Given the description of an element on the screen output the (x, y) to click on. 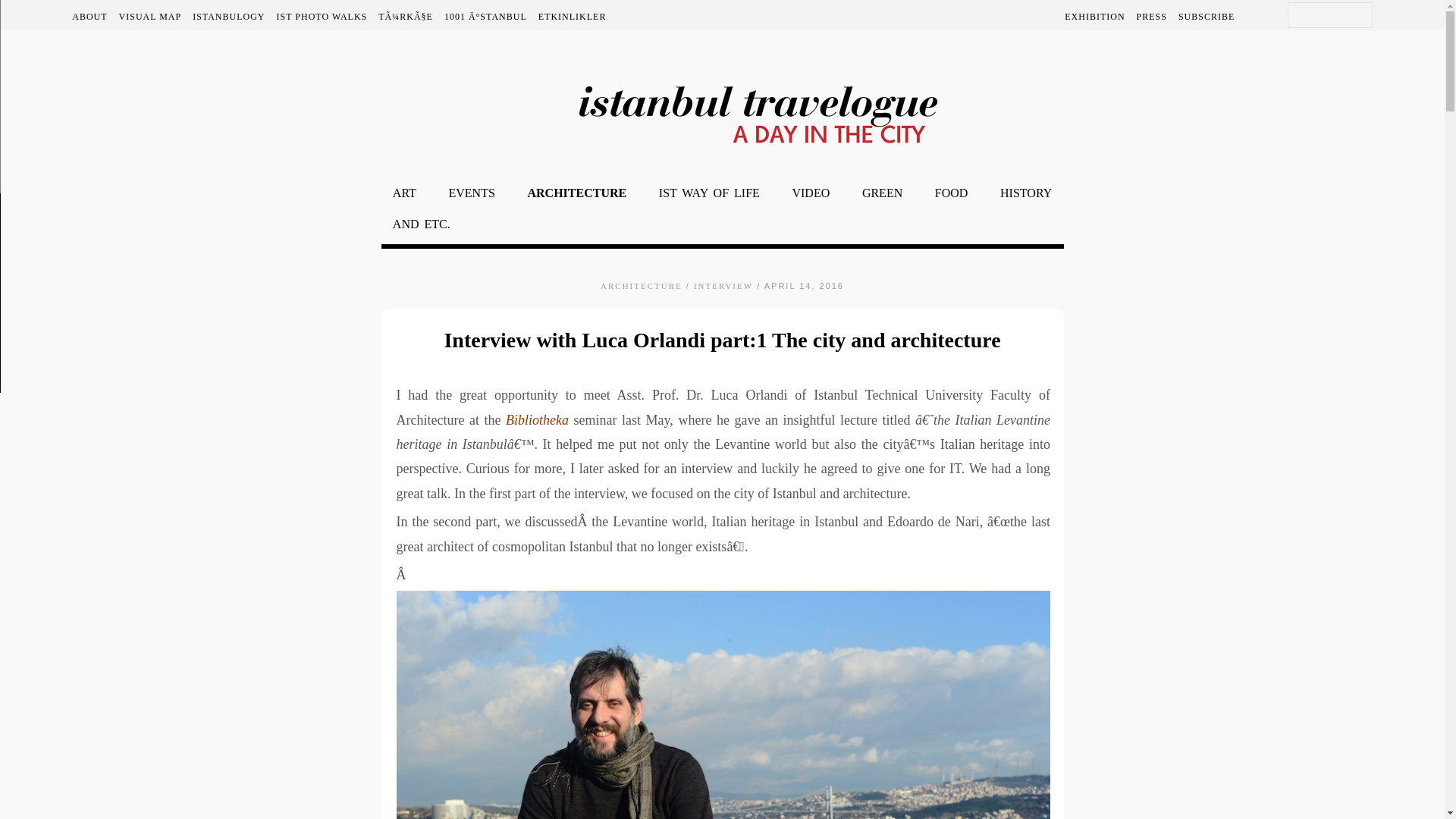
IST WAY OF LIFE (708, 193)
EXHIBITION (1096, 16)
ISTANBULOGY (230, 16)
ABOUT (93, 16)
GREEN (882, 193)
IST PHOTO WALKS (324, 16)
PRESS (1153, 16)
ETKINLIKLER (574, 16)
EVENTS (471, 193)
SEARCH (1329, 16)
